Given the description of an element on the screen output the (x, y) to click on. 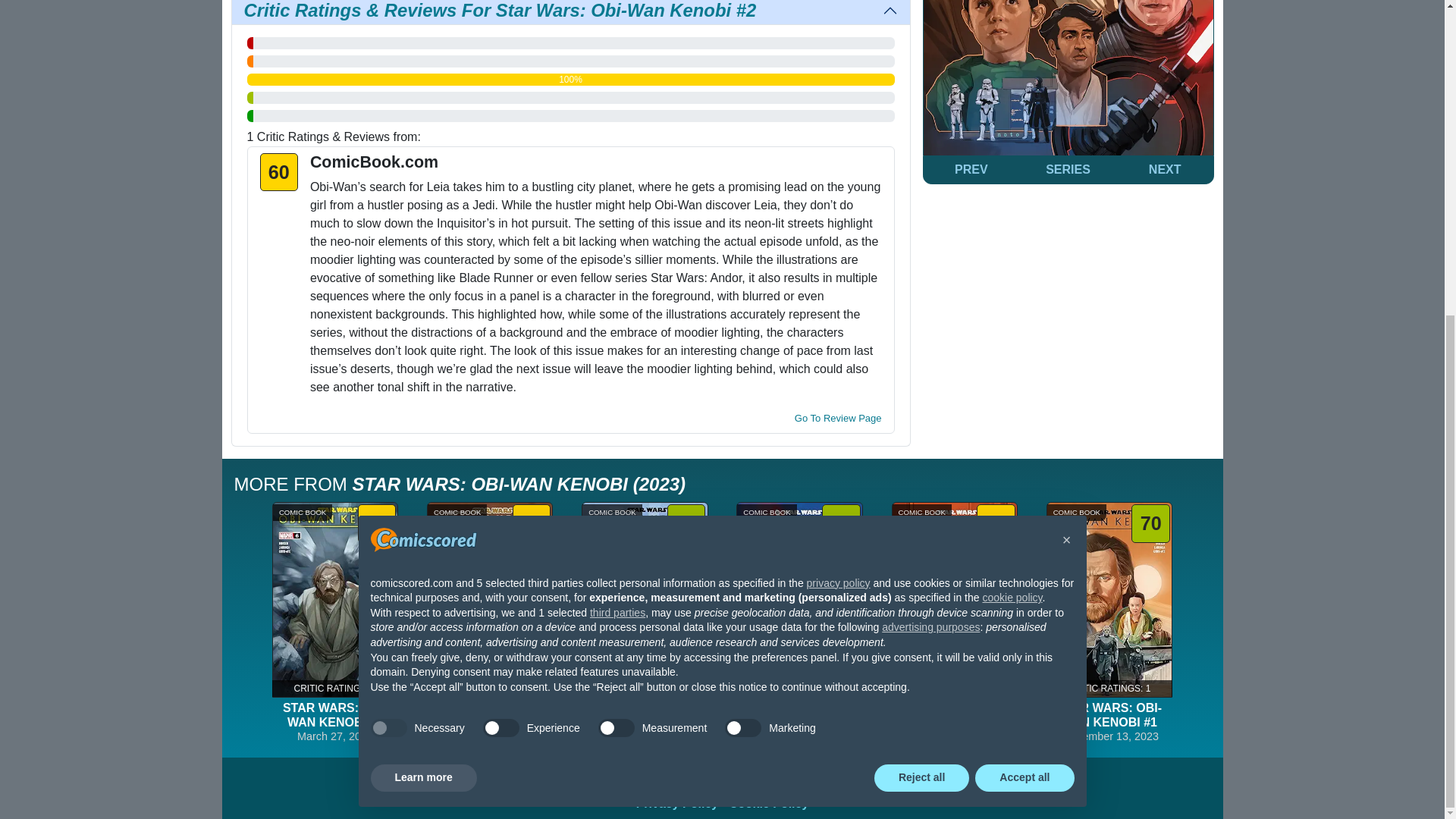
false (743, 222)
Prev (970, 169)
third parties (617, 108)
Accept all (1024, 272)
PREV (970, 169)
false (616, 222)
false (501, 222)
true (387, 222)
SERIES (1067, 169)
Go To Review Page (838, 418)
Learn more (422, 272)
Reject all (922, 272)
advertising purposes (930, 122)
cookie policy (1011, 92)
NEXT (1165, 169)
